Given the description of an element on the screen output the (x, y) to click on. 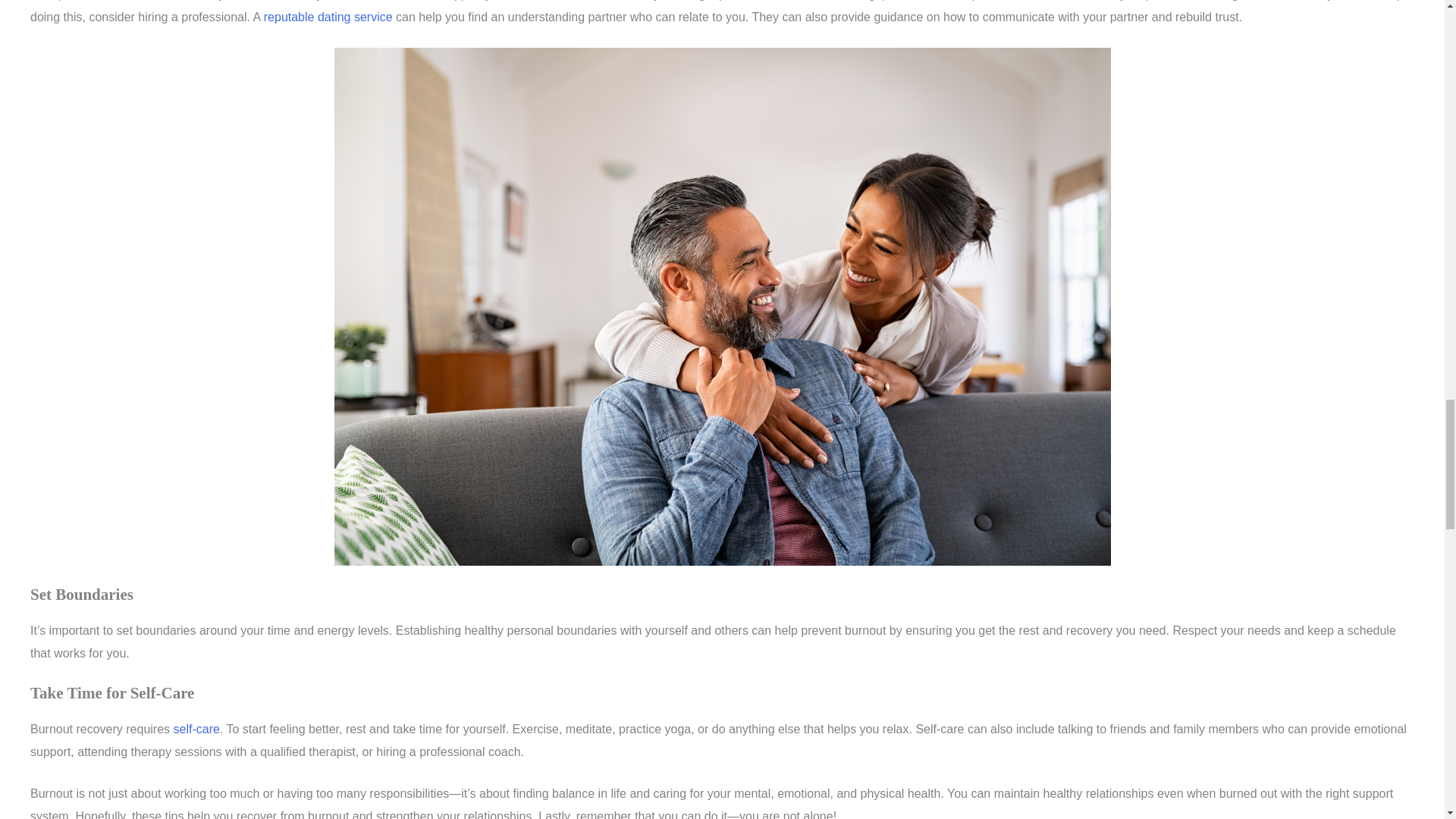
self-care (196, 728)
reputable dating service (328, 16)
